Given the description of an element on the screen output the (x, y) to click on. 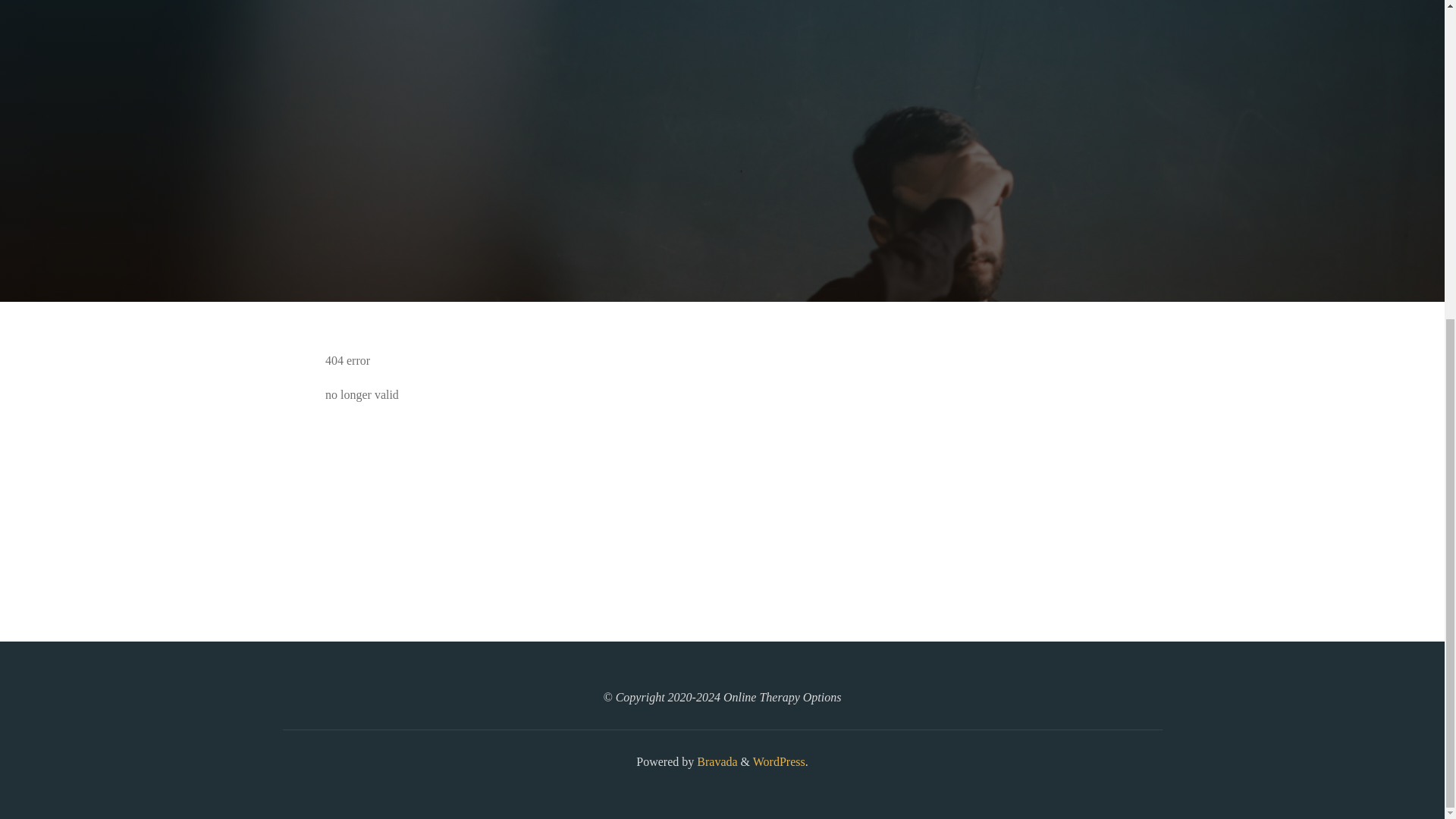
Bravada WordPress Theme by Cryout Creations (715, 761)
Semantic Personal Publishing Platform (778, 761)
Read more (721, 207)
Bravada (715, 761)
WordPress (778, 761)
